Given the description of an element on the screen output the (x, y) to click on. 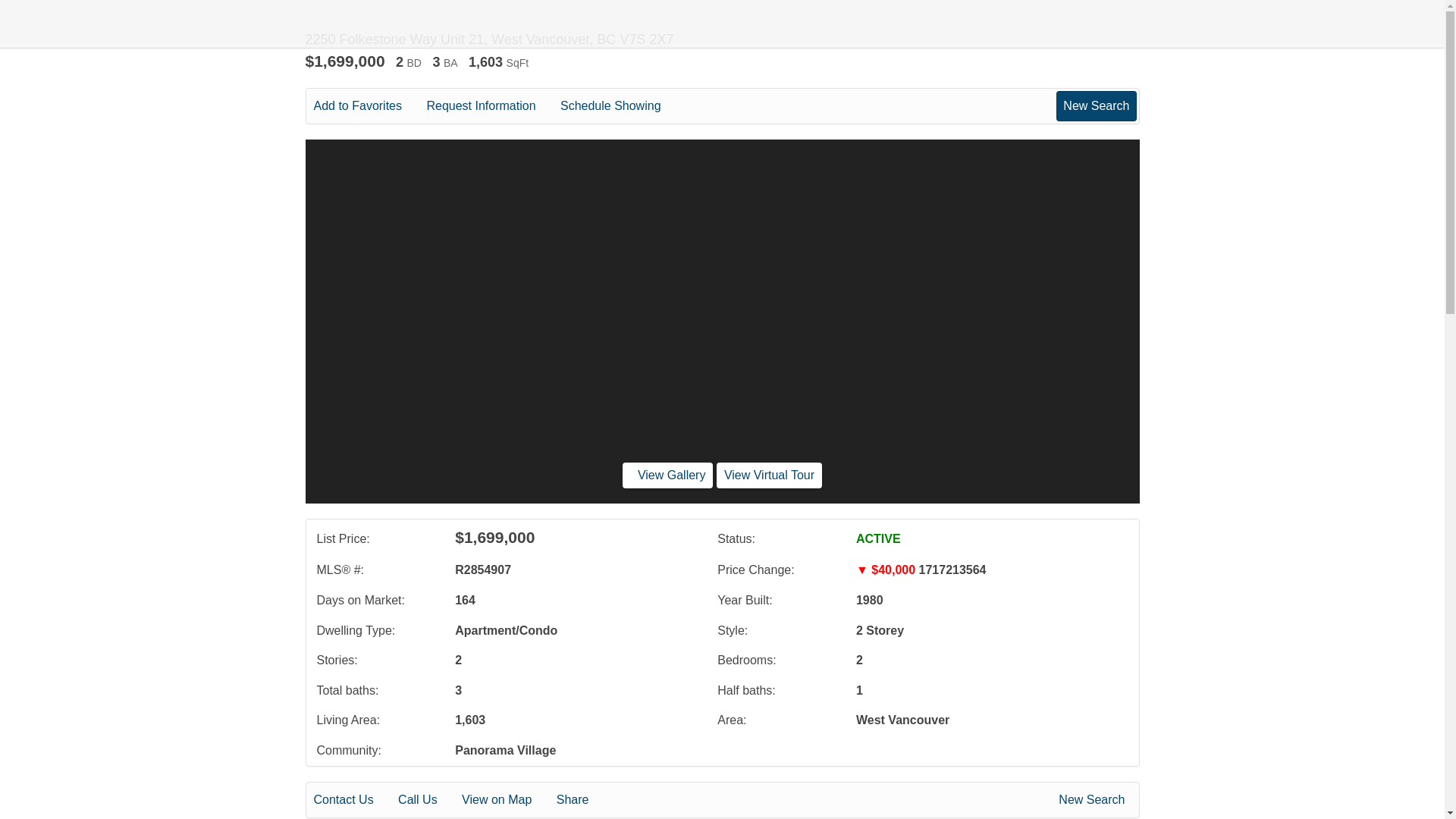
View Virtual Tour (769, 474)
View Gallery (668, 474)
Share (583, 799)
New Search (1096, 105)
Call Us (427, 799)
New Search (1094, 799)
View Virtual Tour (769, 475)
Contact Us (354, 799)
View on Map (507, 799)
Add to Favorites (368, 106)
